Given the description of an element on the screen output the (x, y) to click on. 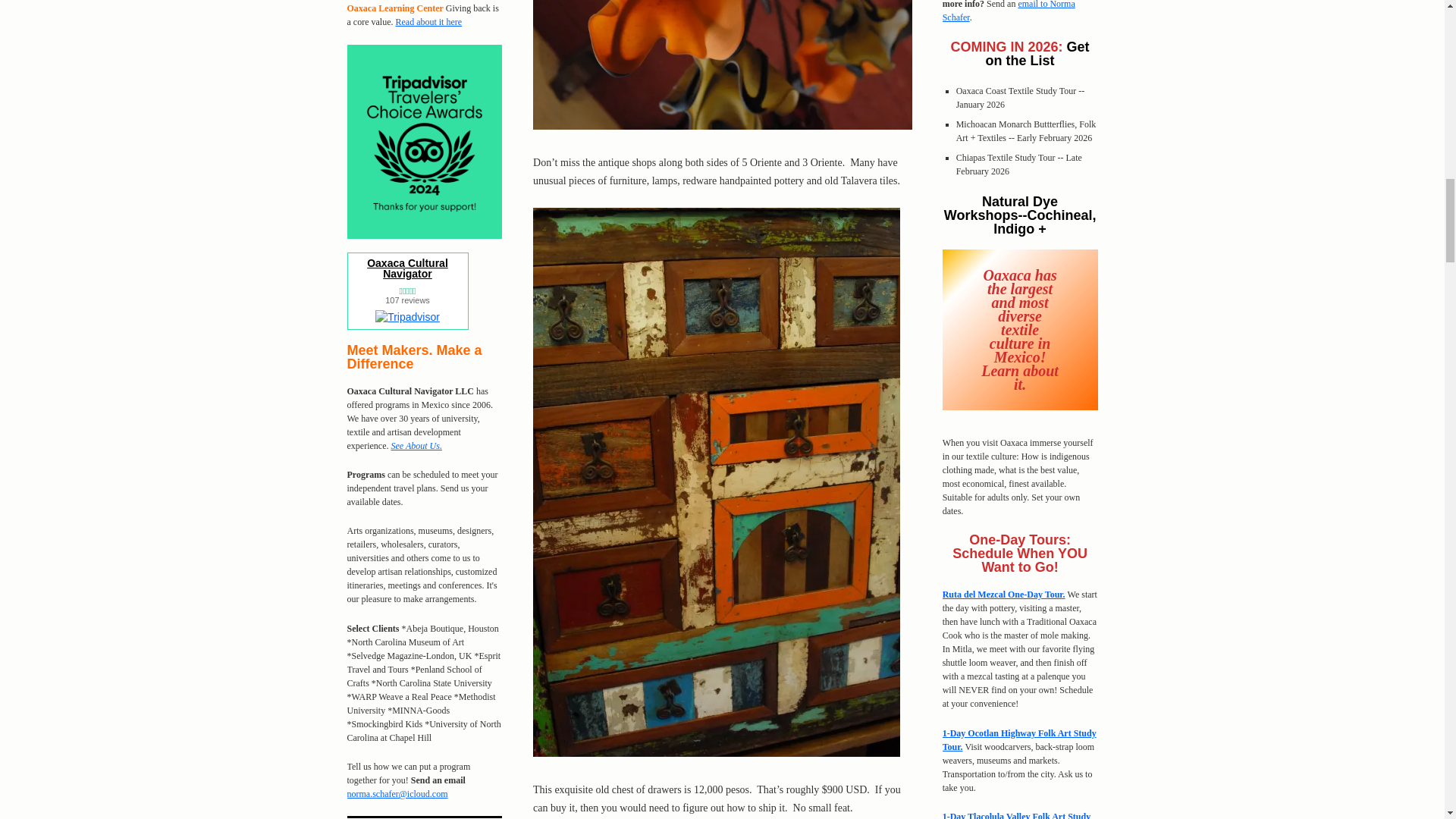
untitled-30 (722, 64)
